Given the description of an element on the screen output the (x, y) to click on. 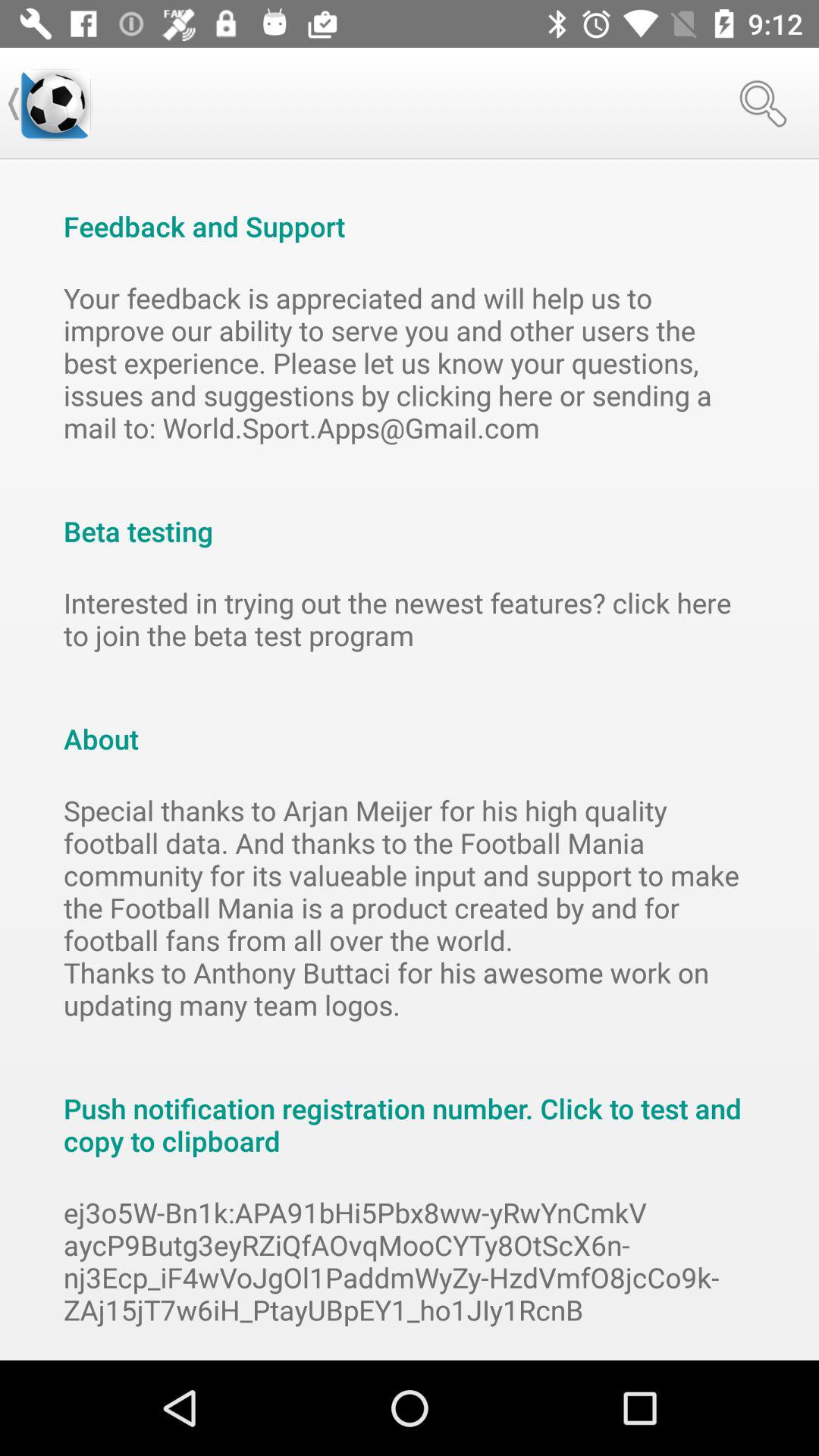
choose the icon above the feedback and support (55, 103)
